Given the description of an element on the screen output the (x, y) to click on. 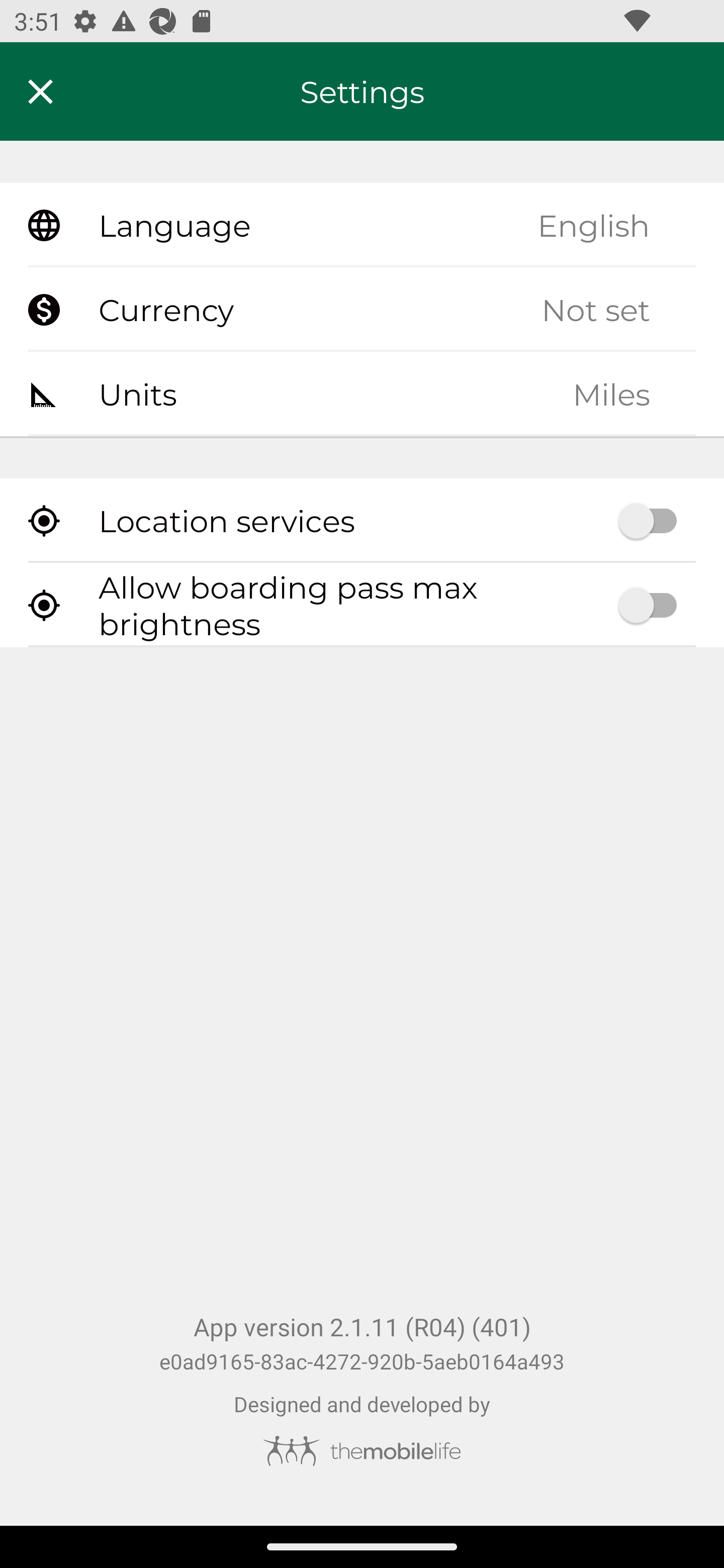
Language English (362, 225)
Currency Not set (362, 309)
Units Miles (362, 393)
Location services (362, 520)
Allow boarding pass max brightness (362, 604)
